Given the description of an element on the screen output the (x, y) to click on. 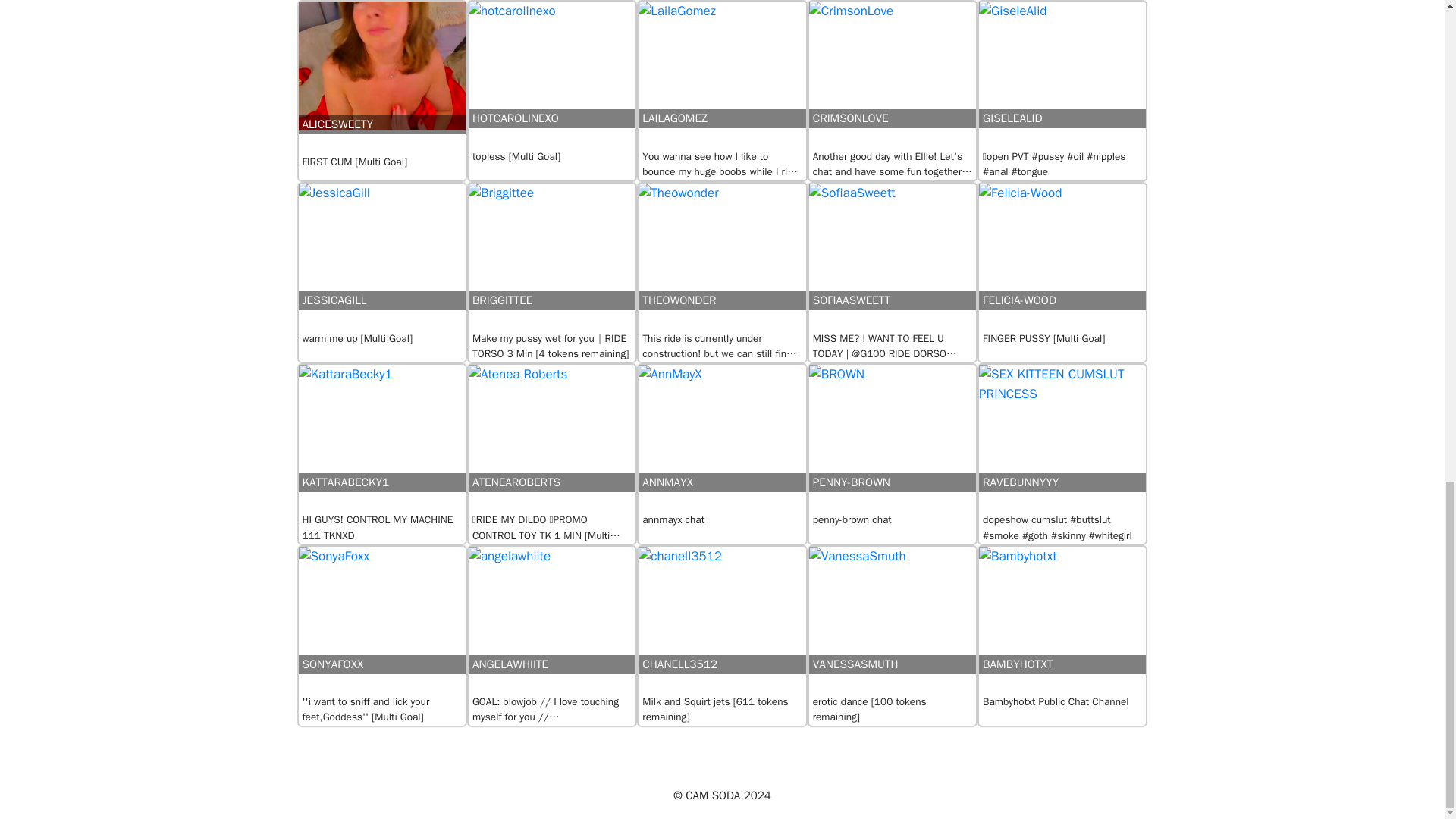
CHANELL3512 (722, 620)
ATENEAROBERTS (551, 438)
RAVEBUNNYYY (1061, 438)
BAMBYHOTXT (1061, 620)
VANESSASMUTH (892, 620)
SONYAFOXX (381, 620)
THEOWONDER (722, 257)
LAILAGOMEZ (722, 75)
GISELEALID (1061, 75)
HOTCAROLINEXO (551, 75)
FELICIA-WOOD (1061, 257)
ANGELAWHIITE (551, 620)
SOFIAASWEETT (892, 257)
ANNMAYX (722, 438)
PENNY-BROWN (892, 438)
